Given the description of an element on the screen output the (x, y) to click on. 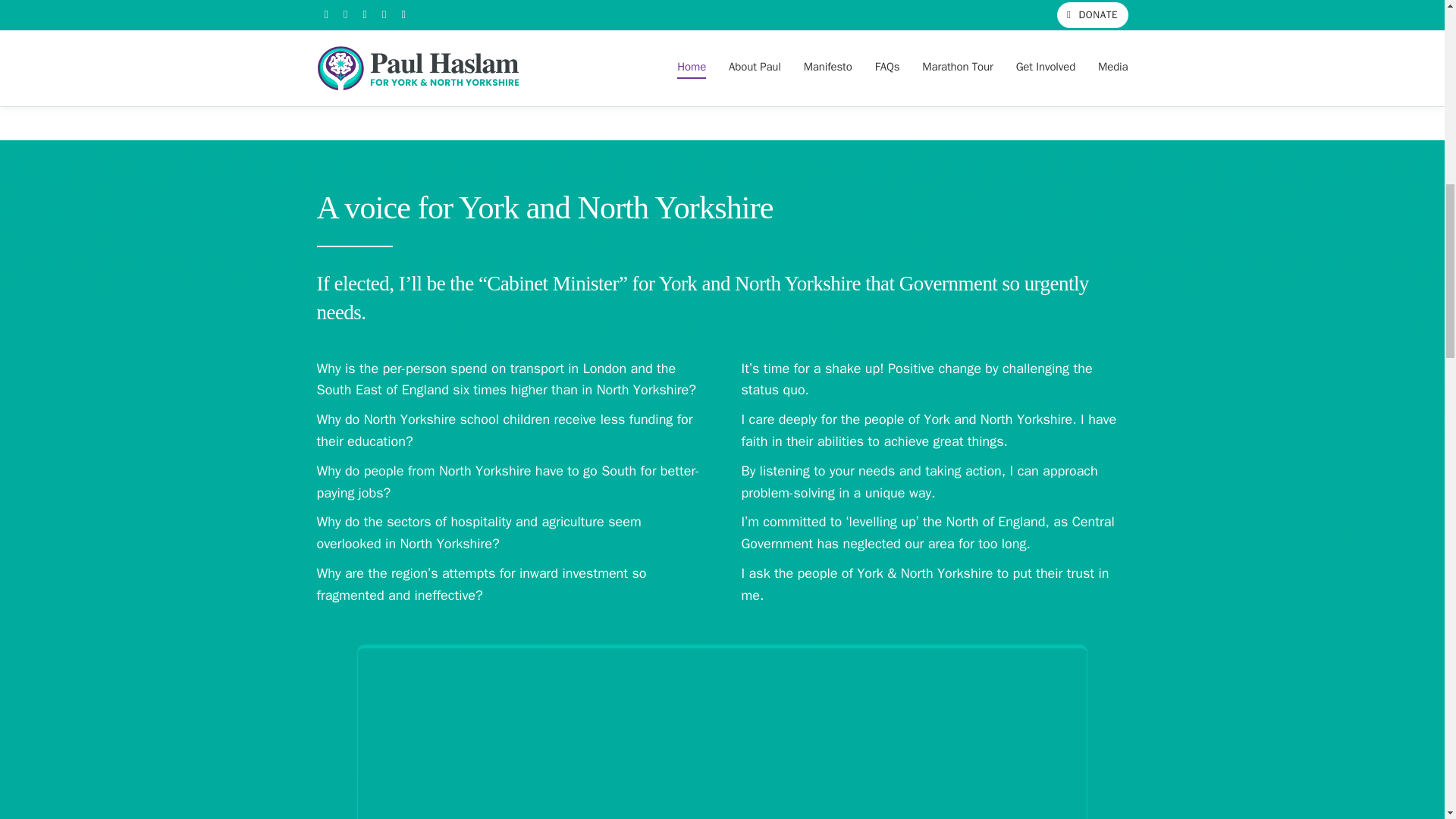
MANIFESTO IN DETAIL (721, 79)
